Given the description of an element on the screen output the (x, y) to click on. 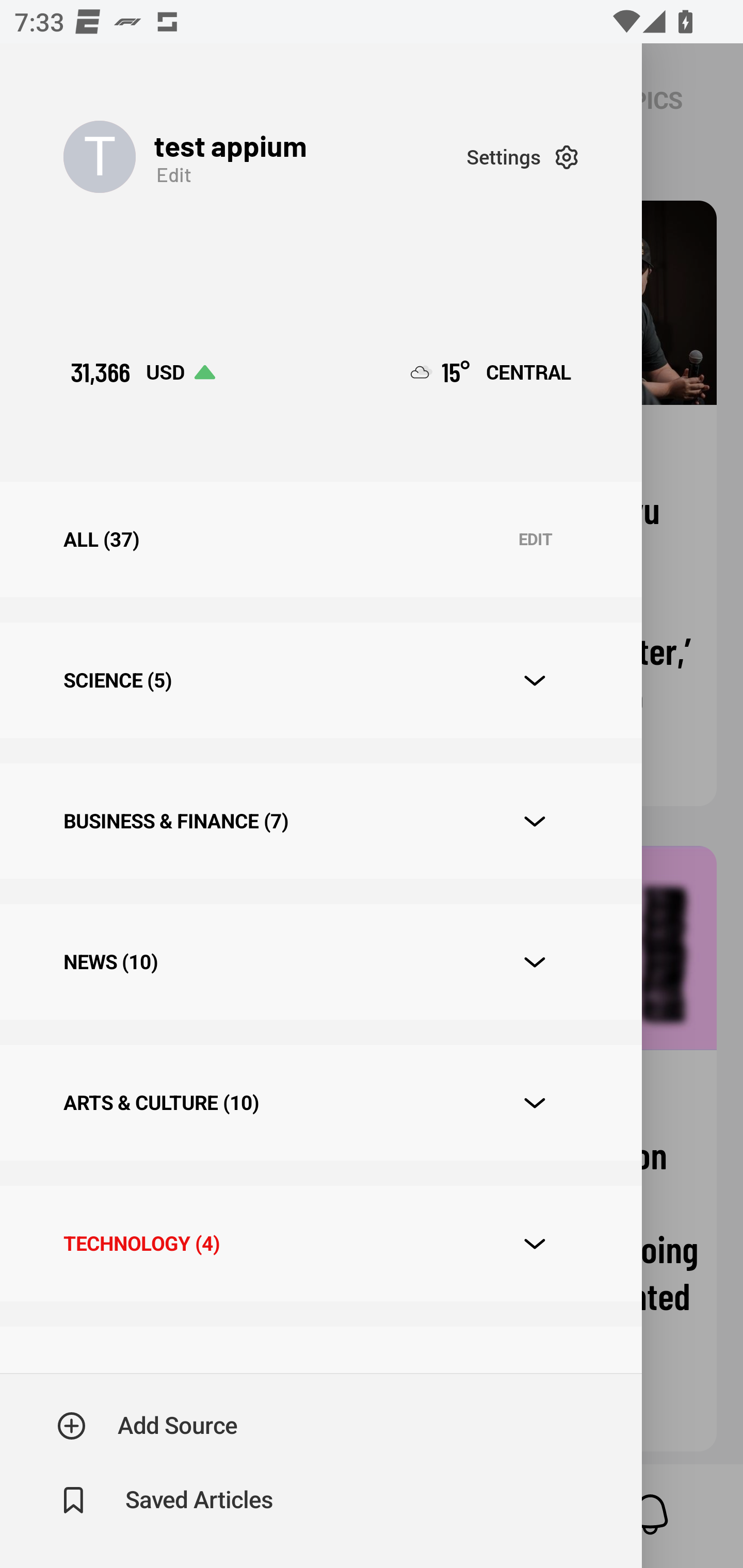
T test appium Edit (264, 156)
Settings Select News Style (522, 156)
31,366 USD Current State of the Currency (142, 372)
Current State of the Weather 15° CENTRAL (490, 372)
ALL  (37) EDIT (320, 539)
EDIT (534, 540)
SCIENCE  (5) Expand Button (320, 680)
Expand Button (534, 681)
BUSINESS & FINANCE  (7) Expand Button (320, 821)
Expand Button (534, 821)
NEWS  (10) Expand Button (320, 961)
Expand Button (534, 961)
ARTS & CULTURE  (10) Expand Button (320, 1102)
Expand Button (534, 1102)
TECHNOLOGY  (4) Expand Button (320, 1243)
Expand Button (534, 1244)
Open Content Store Add Source (147, 1425)
Open Saved News  Saved Articles (166, 1500)
